Given the description of an element on the screen output the (x, y) to click on. 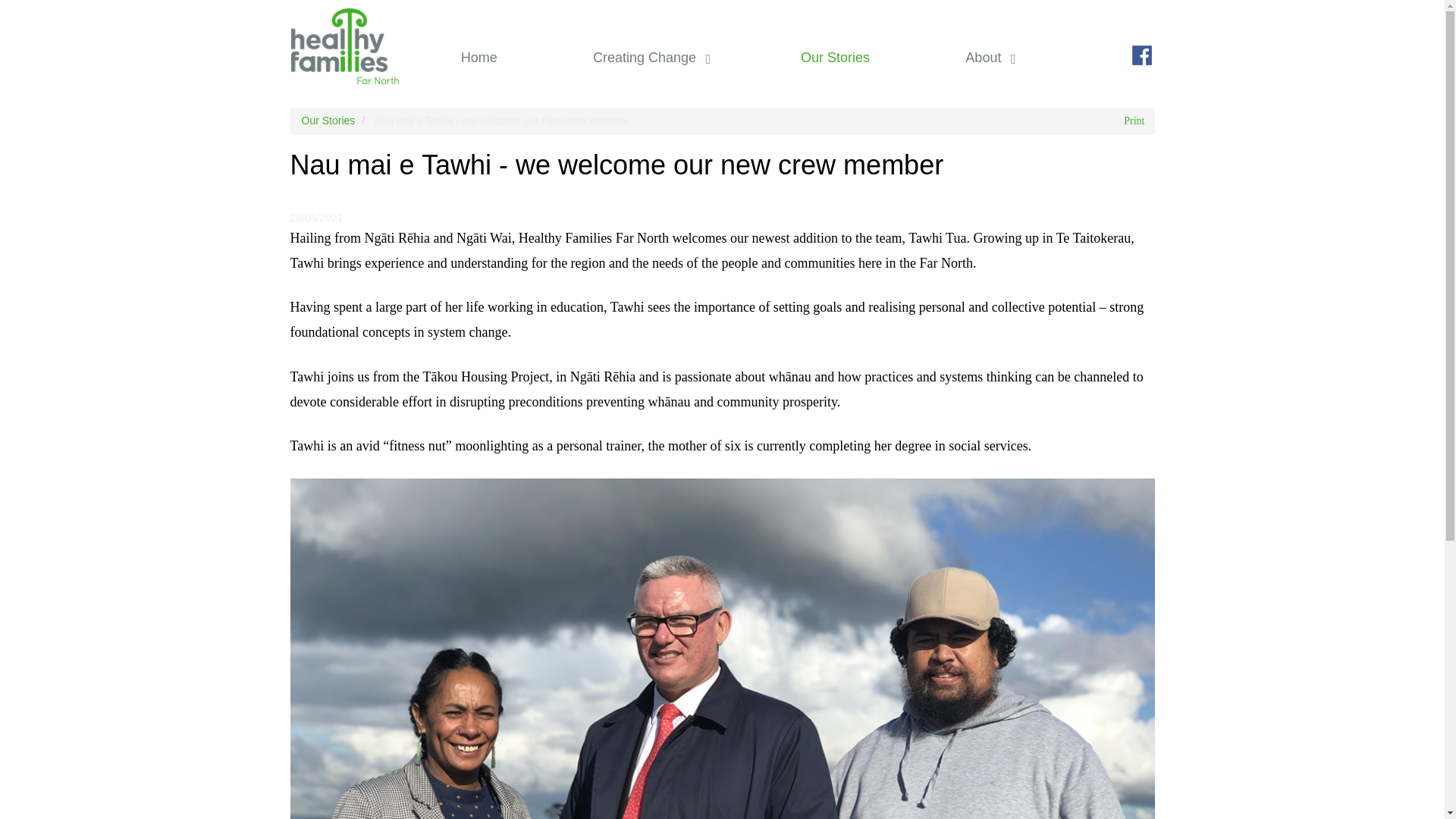
Creating Change (648, 57)
Our Stories (834, 57)
Creating Change (648, 57)
Home (478, 57)
Our Stories (834, 57)
Home (478, 57)
